Given the description of an element on the screen output the (x, y) to click on. 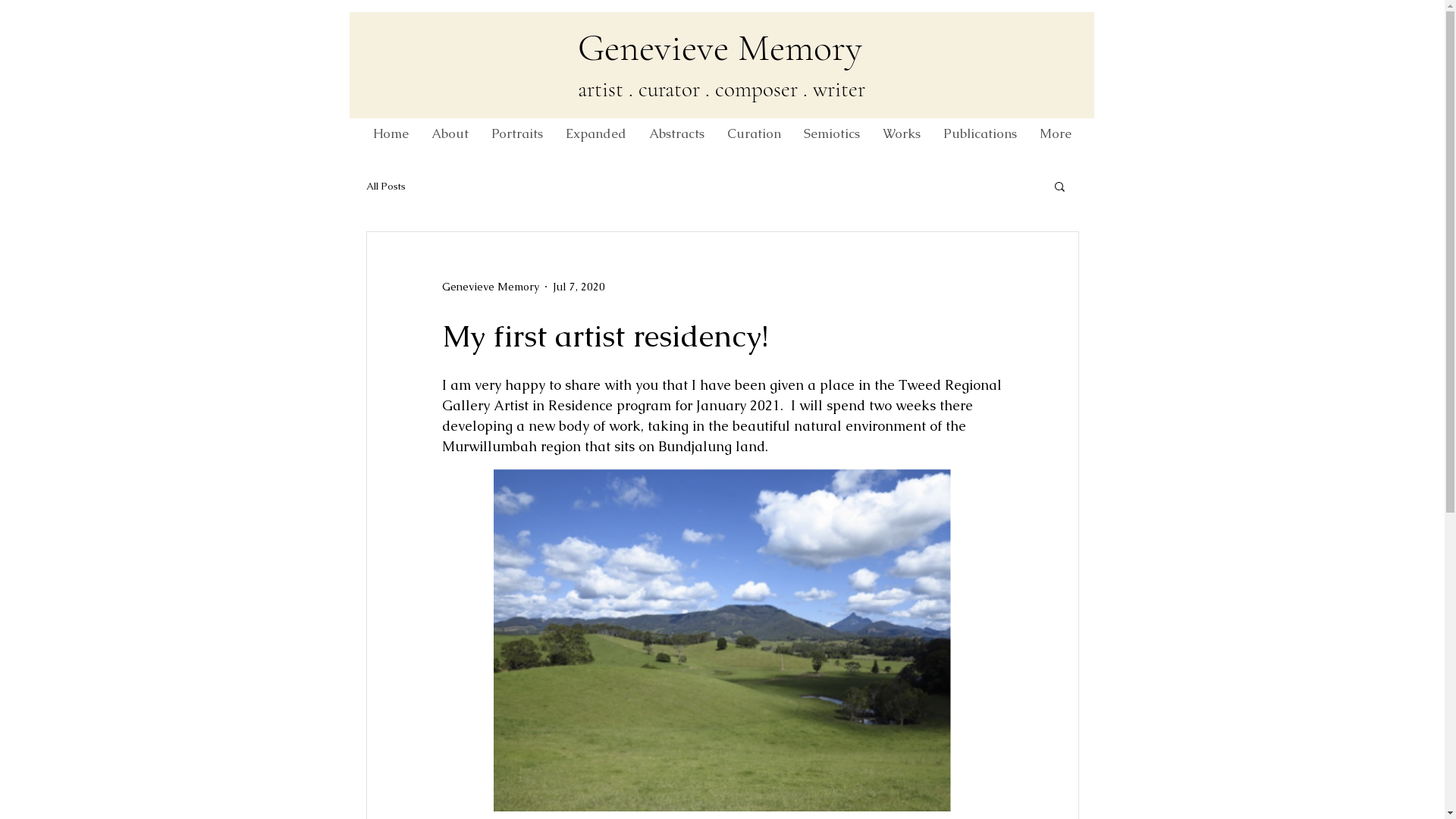
Expanded Element type: text (595, 133)
Curation Element type: text (753, 133)
All Posts Element type: text (384, 184)
Abstracts Element type: text (676, 133)
About Element type: text (450, 133)
Publications Element type: text (979, 133)
Works Element type: text (901, 133)
Home Element type: text (390, 133)
Portraits Element type: text (517, 133)
Semiotics Element type: text (831, 133)
